Given the description of an element on the screen output the (x, y) to click on. 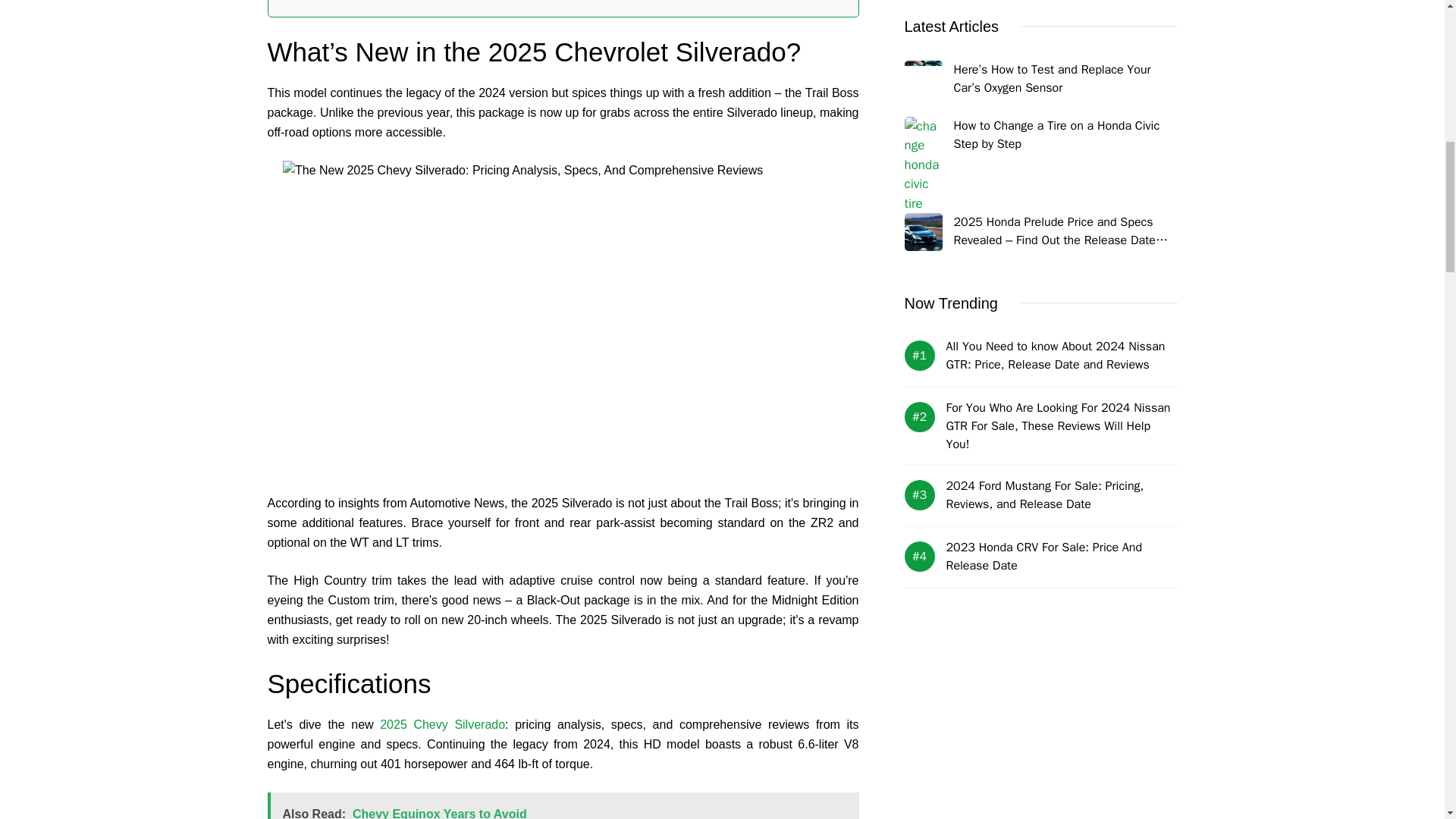
Also Read:  Chevy Equinox Years to Avoid (562, 805)
2025 Chevy Silverado (442, 724)
2025 Chevy Silverado (442, 724)
